Given the description of an element on the screen output the (x, y) to click on. 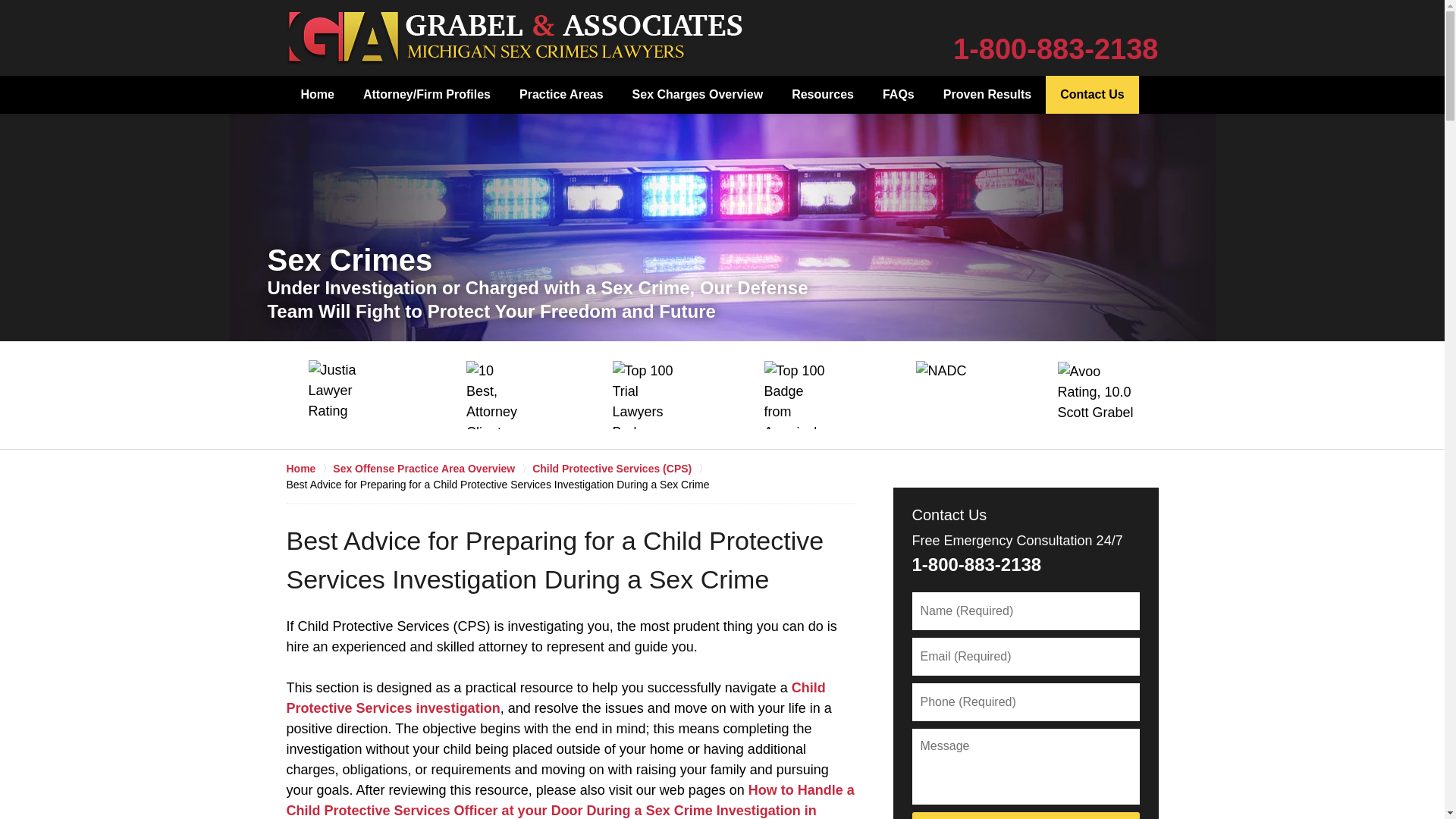
Home (317, 94)
Home (514, 37)
Proven Results (986, 94)
FAQs (897, 94)
Resources (822, 94)
Contact Us (1091, 94)
1-800-883-2138 (1055, 49)
Contact (994, 37)
Back to Home (514, 37)
Practice Areas (561, 94)
